Given the description of an element on the screen output the (x, y) to click on. 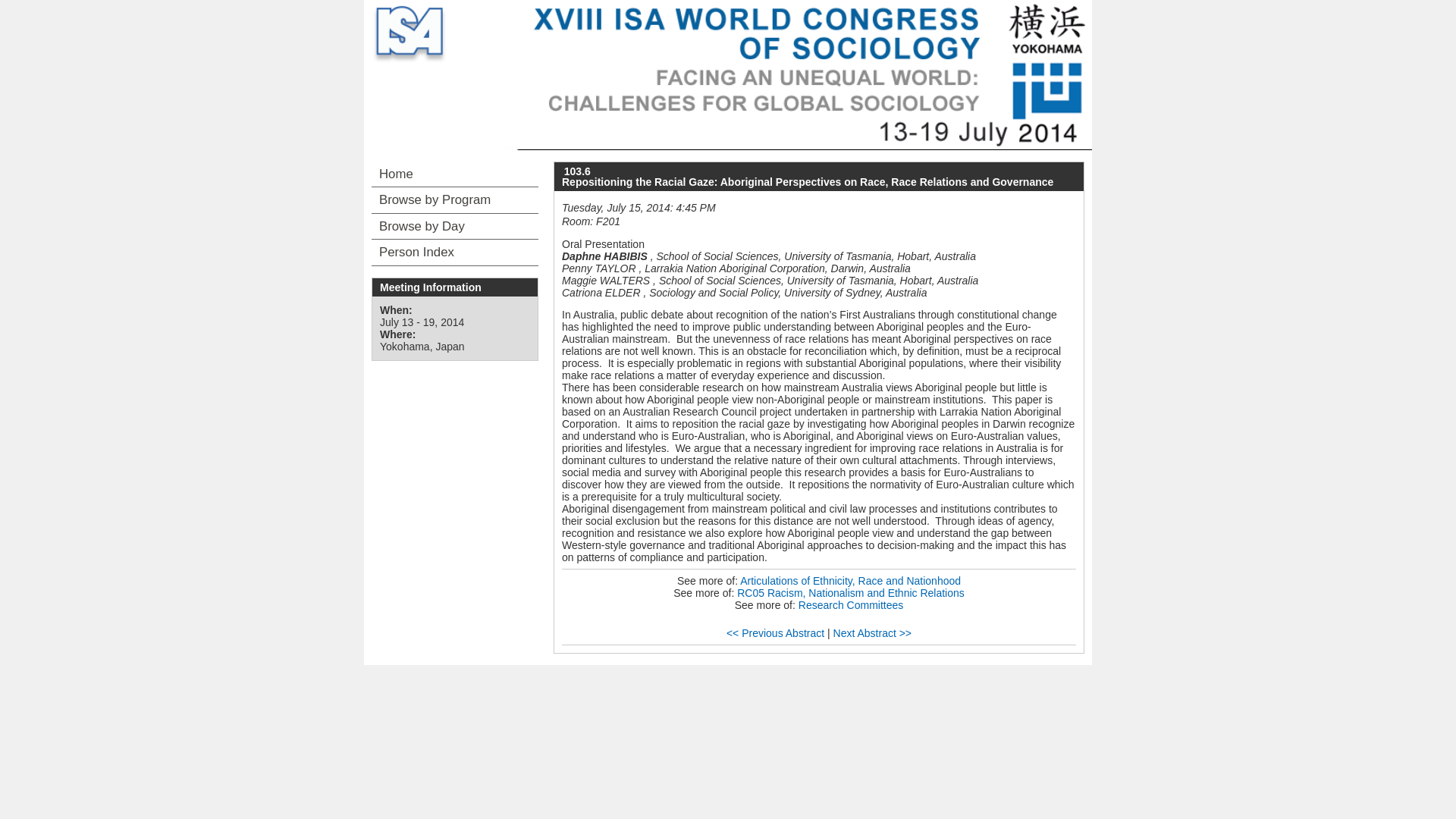
Browse by Day (454, 226)
Research Committees (850, 604)
RC05 Racism, Nationalism and Ethnic Relations (849, 592)
Person Index (454, 252)
Home (454, 174)
Articulations of Ethnicity, Race and Nationhood (849, 580)
Browse by Program (454, 199)
